Given the description of an element on the screen output the (x, y) to click on. 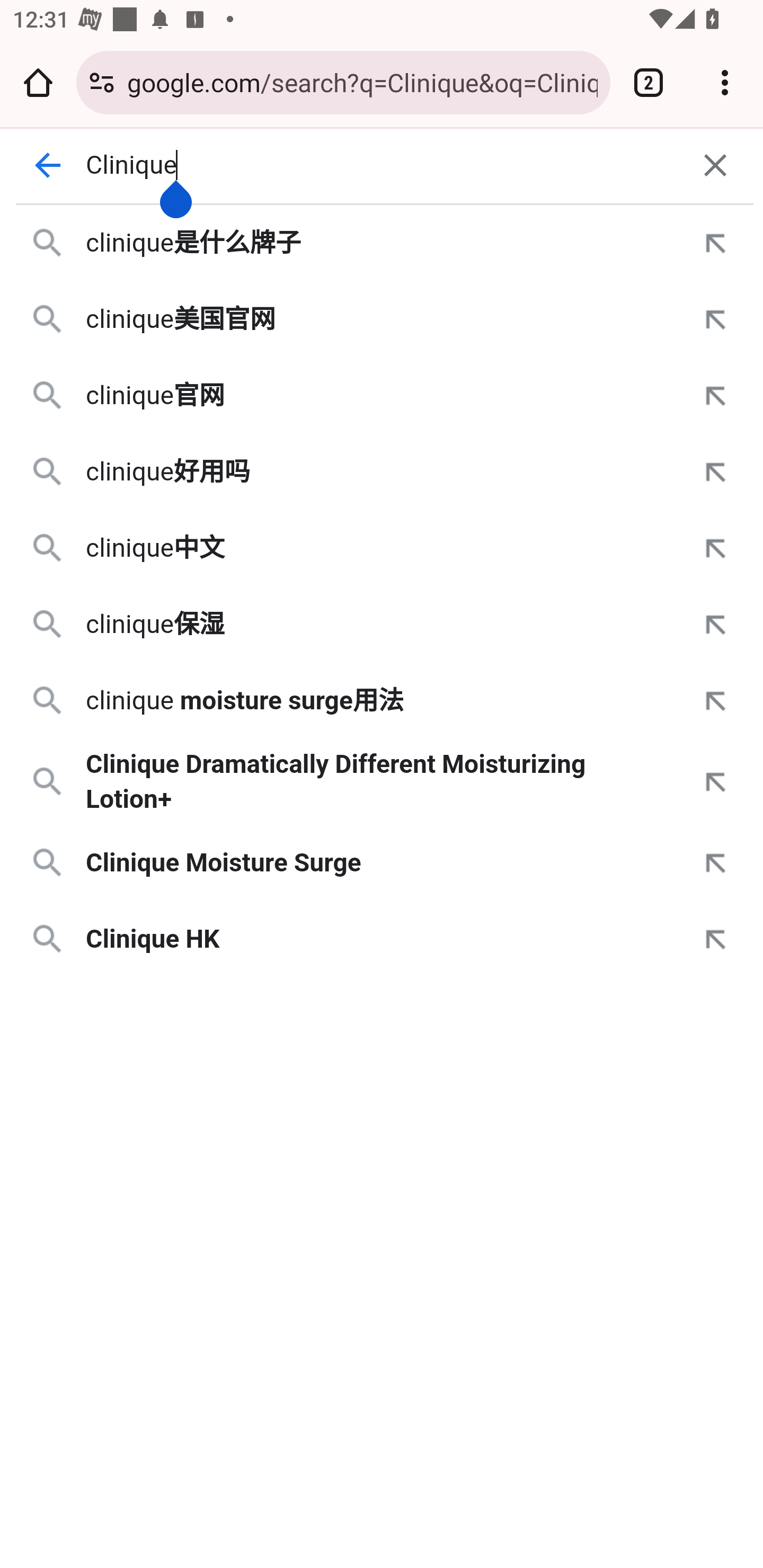
Open the home page (38, 82)
Connection is secure (101, 82)
Switch or close tabs (648, 82)
Customize and control Google Chrome (724, 82)
2024 年国际妇女节 (381, 177)
返回 (47, 165)
清除搜索 (715, 165)
